Given the description of an element on the screen output the (x, y) to click on. 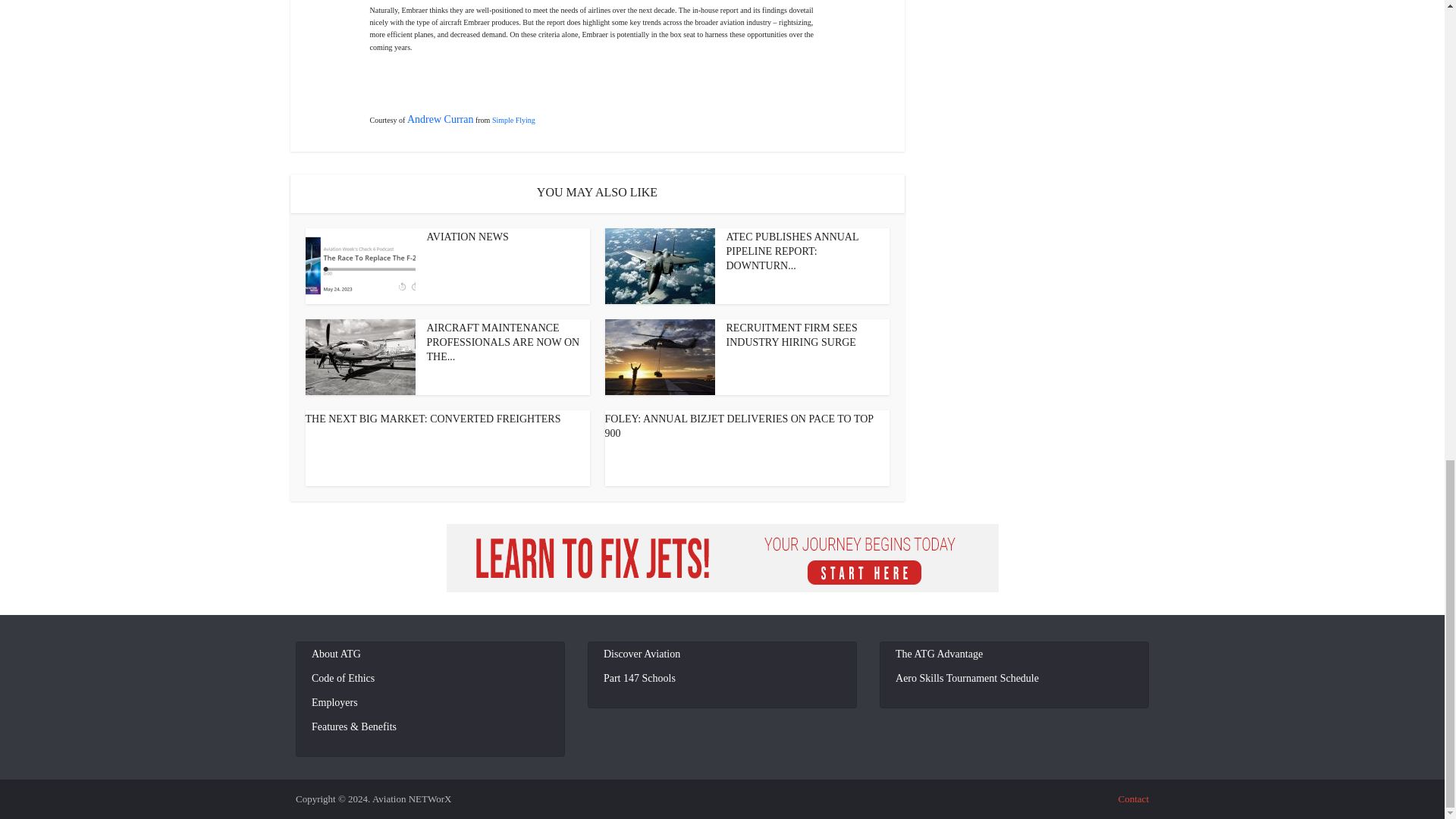
Aviation News (467, 236)
Recruitment Firm Sees Industry Hiring Surge (791, 335)
View all posts by Andrew Curran (440, 119)
The Next Big Market: Converted Freighters (432, 419)
Foley: Annual Bizjet Deliveries On Pace To Top 900 (739, 425)
